Given the description of an element on the screen output the (x, y) to click on. 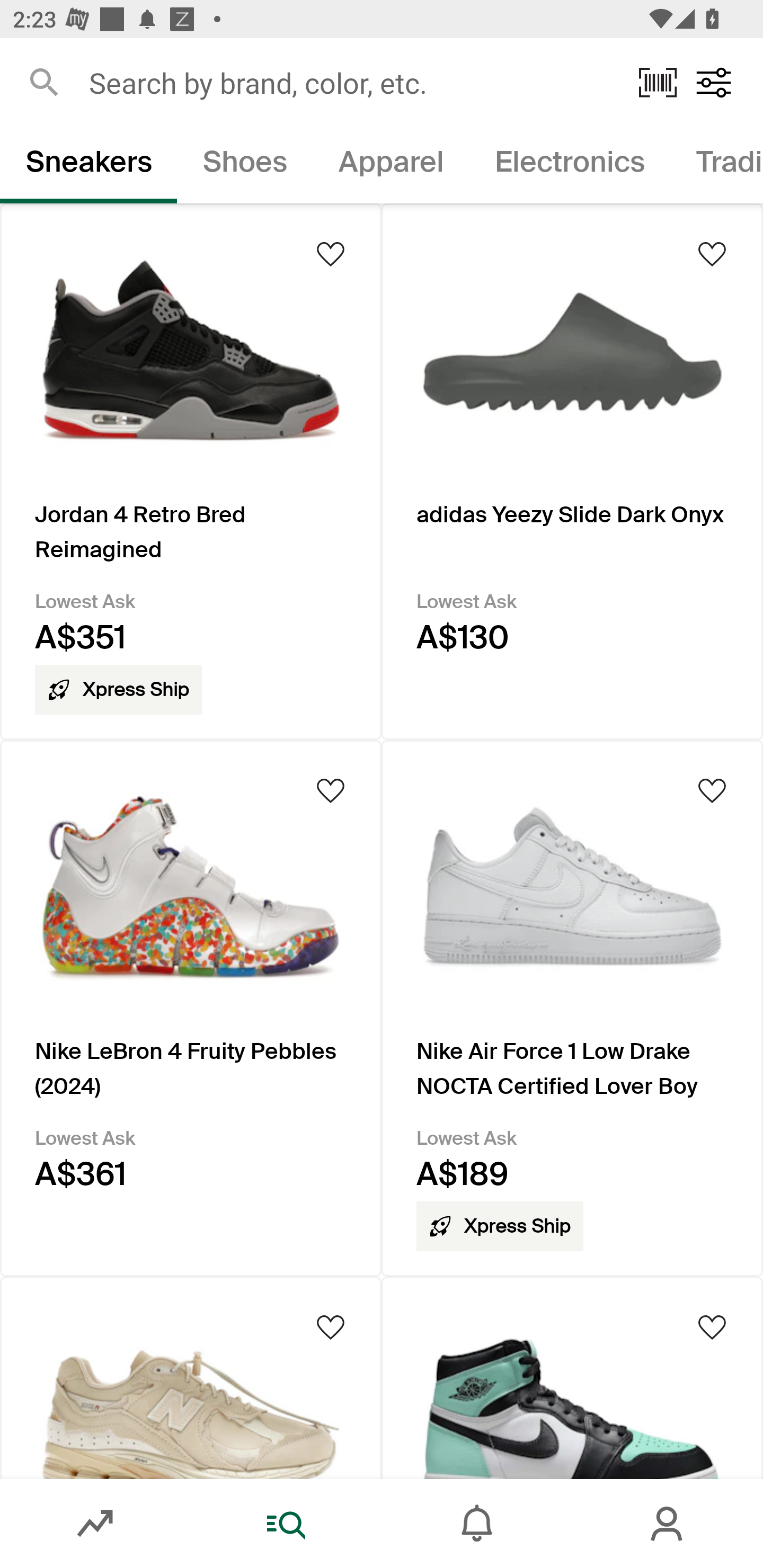
Search by brand, color, etc. (351, 82)
Shoes (244, 165)
Apparel (390, 165)
Electronics (569, 165)
Trading Cards (716, 165)
Product Image (190, 1377)
Product Image (572, 1377)
Market (95, 1523)
Inbox (476, 1523)
Account (667, 1523)
